Given the description of an element on the screen output the (x, y) to click on. 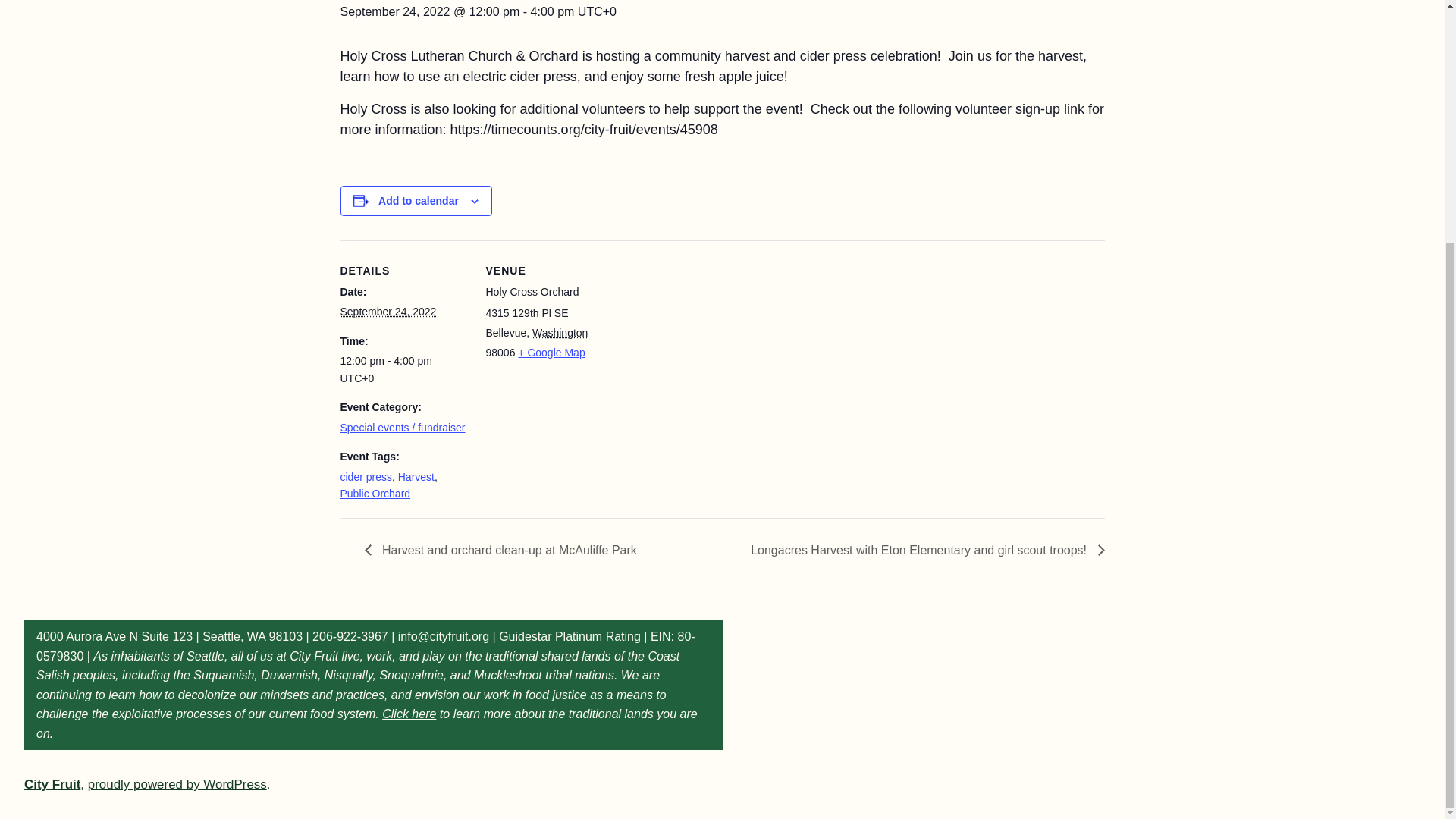
Click to view a Google Map (551, 352)
2022-09-24 (403, 369)
2022-09-24 (387, 311)
Washington (560, 332)
